Given the description of an element on the screen output the (x, y) to click on. 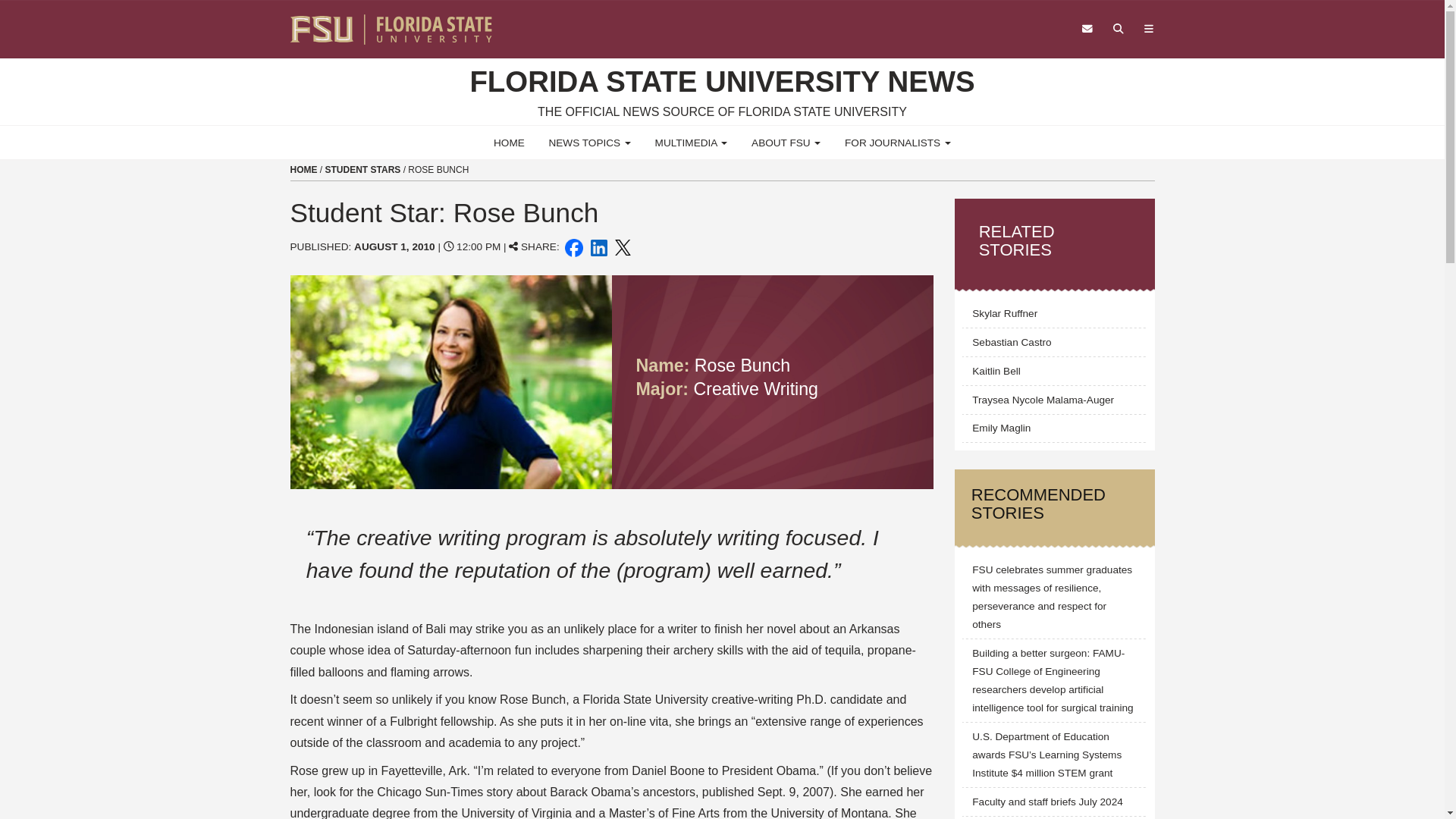
FSU Webmail (1087, 28)
Navigation (1148, 28)
